Given the description of an element on the screen output the (x, y) to click on. 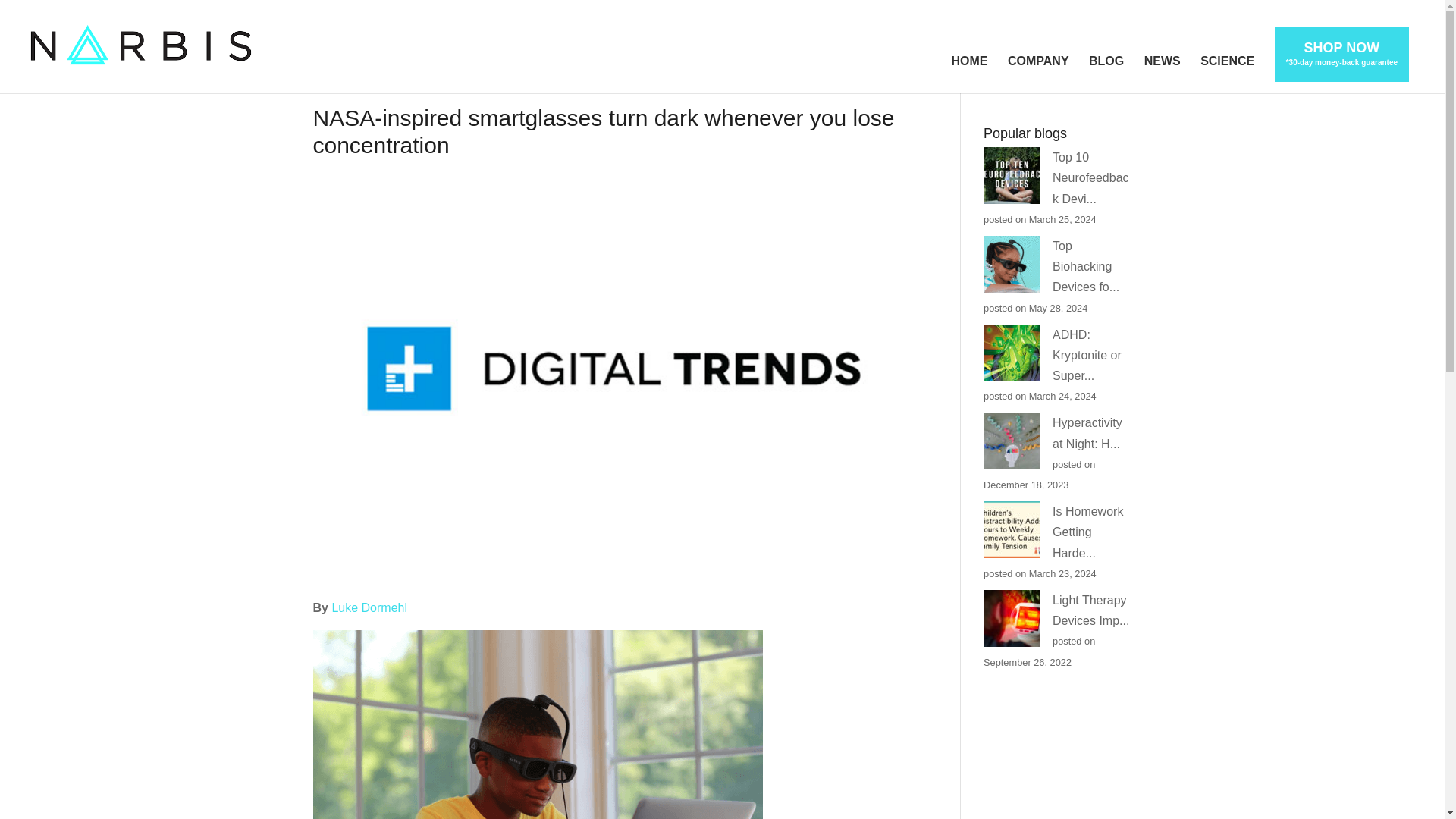
BLOG (1106, 74)
Top 10 Neurofeedback Devi... (1090, 177)
Top Biohacking Devices fo... (1085, 266)
ADHD: Kryptonite or Super Power for Video Gamers? (1086, 355)
Hyperactivity at Night: H... (1087, 432)
Light Therapy Devices Improve Skincare, Migraine, and Mood (1090, 610)
SCIENCE (1226, 74)
COMPANY (1037, 74)
Light Therapy Devices Imp... (1090, 610)
Is Homework Getting Harde... (1087, 531)
ADHD: Kryptonite or Super... (1086, 355)
Top Biohacking Devices for 2024 (1085, 266)
NEWS (1162, 74)
